Given the description of an element on the screen output the (x, y) to click on. 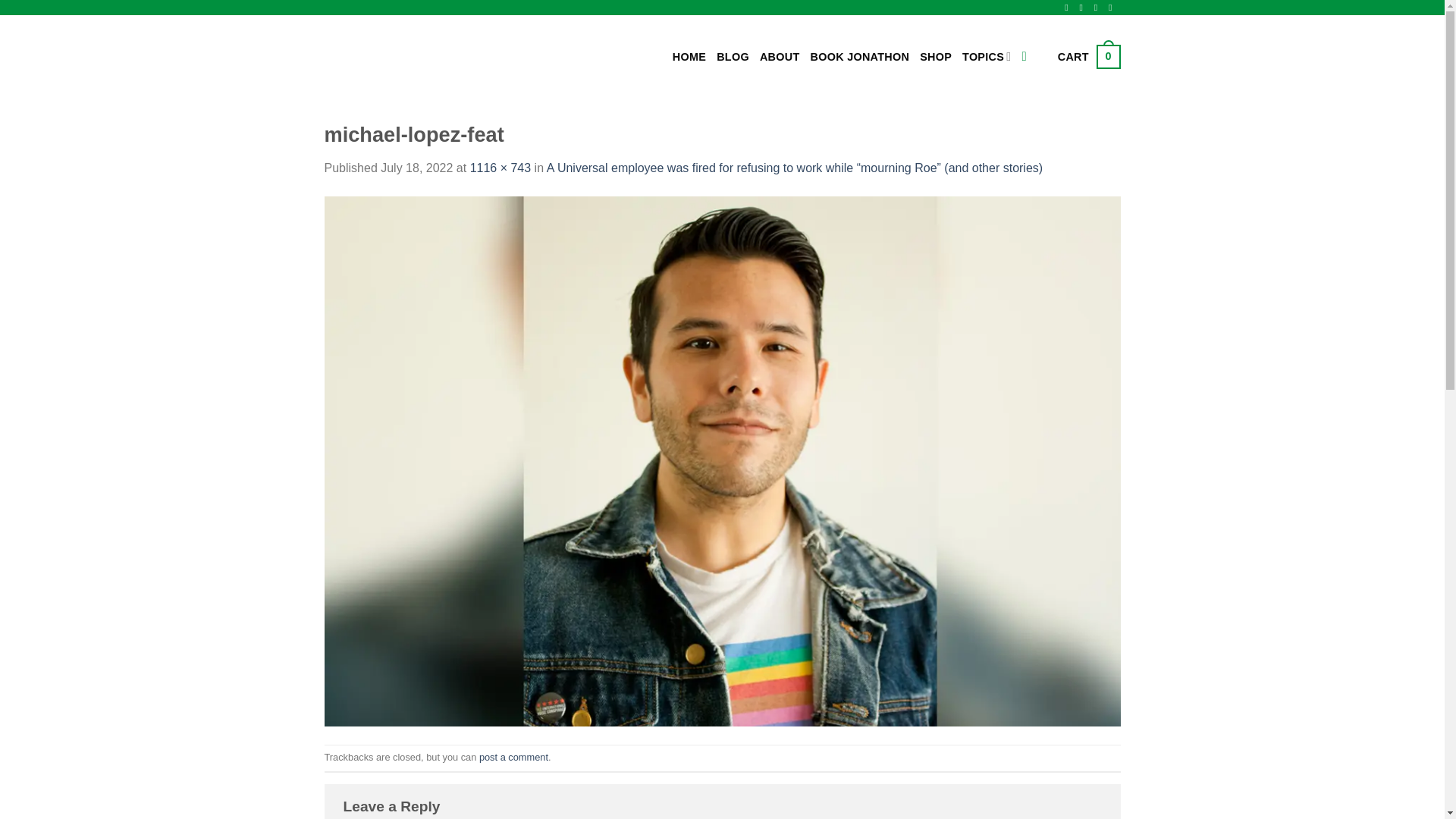
BLOG (732, 56)
post a comment (513, 756)
BOOK JONATHON (860, 56)
SHOP (936, 56)
Cart (1089, 56)
ABOUT (779, 56)
HOME (689, 56)
Link to full-size image (500, 167)
michael-lopez-feat (722, 459)
